Given the description of an element on the screen output the (x, y) to click on. 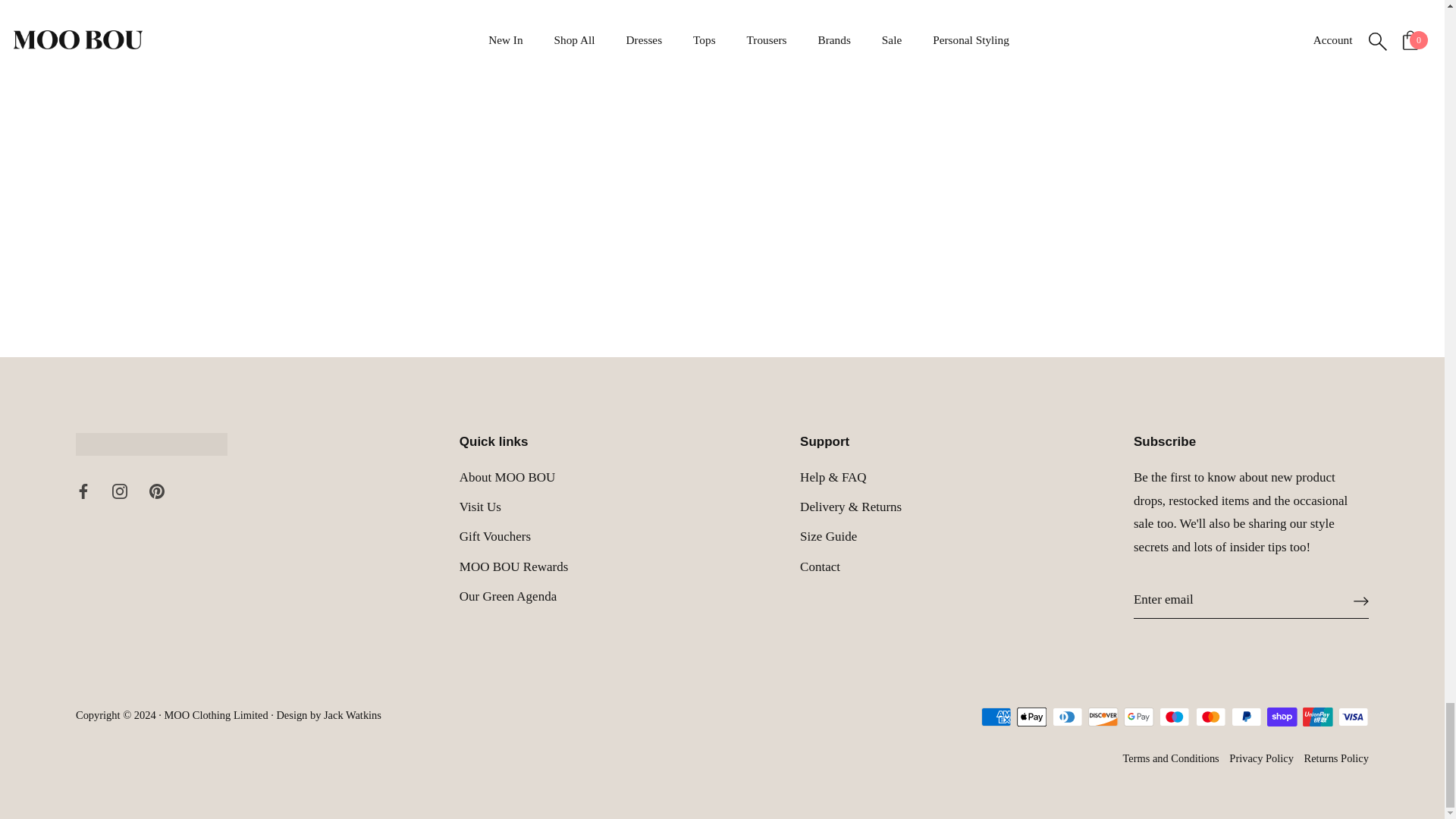
Google Pay (1138, 716)
PayPal (1245, 716)
Discover (1102, 716)
Right arrow long (1361, 601)
Apple Pay (1031, 716)
Instagram (120, 491)
Mastercard (1210, 716)
Maestro (1173, 716)
Pinterest (155, 491)
Diners Club (1067, 716)
American Express (996, 716)
